Given the description of an element on the screen output the (x, y) to click on. 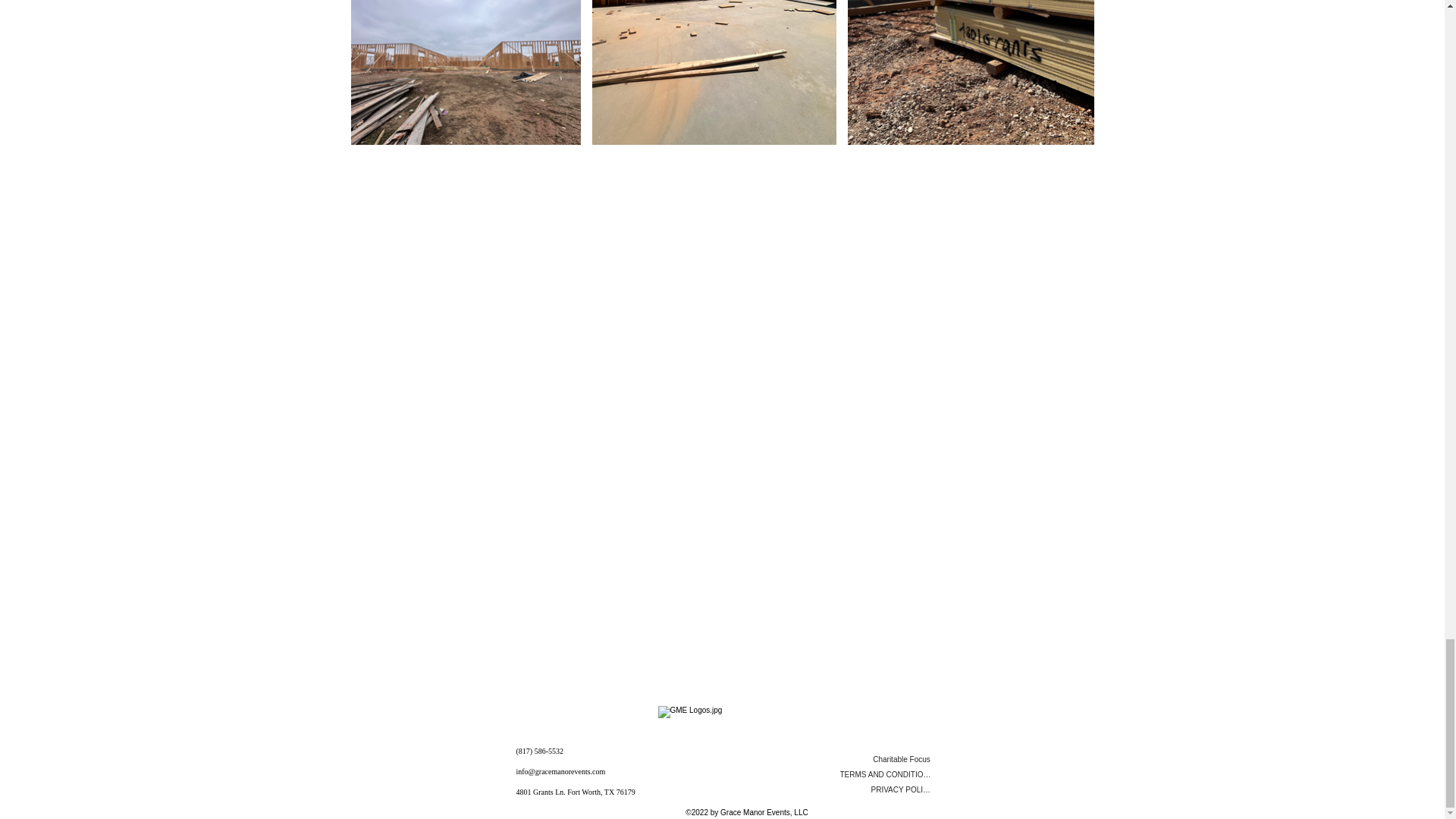
PRIVACY POLICY (900, 789)
Charitable Focus (900, 759)
TERMS AND CONDITIONS (886, 774)
